Given the description of an element on the screen output the (x, y) to click on. 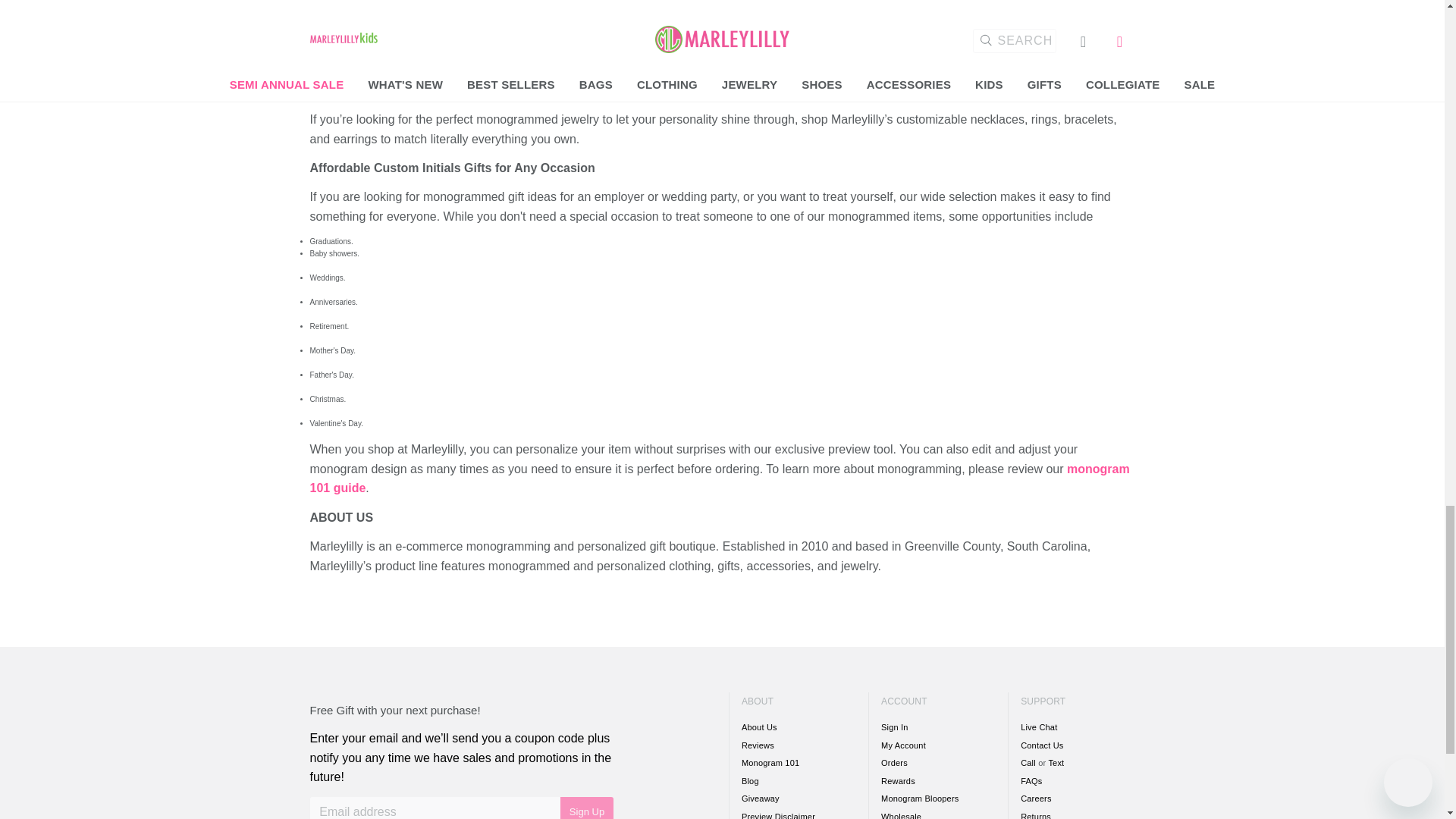
Sign Up (586, 807)
